Given the description of an element on the screen output the (x, y) to click on. 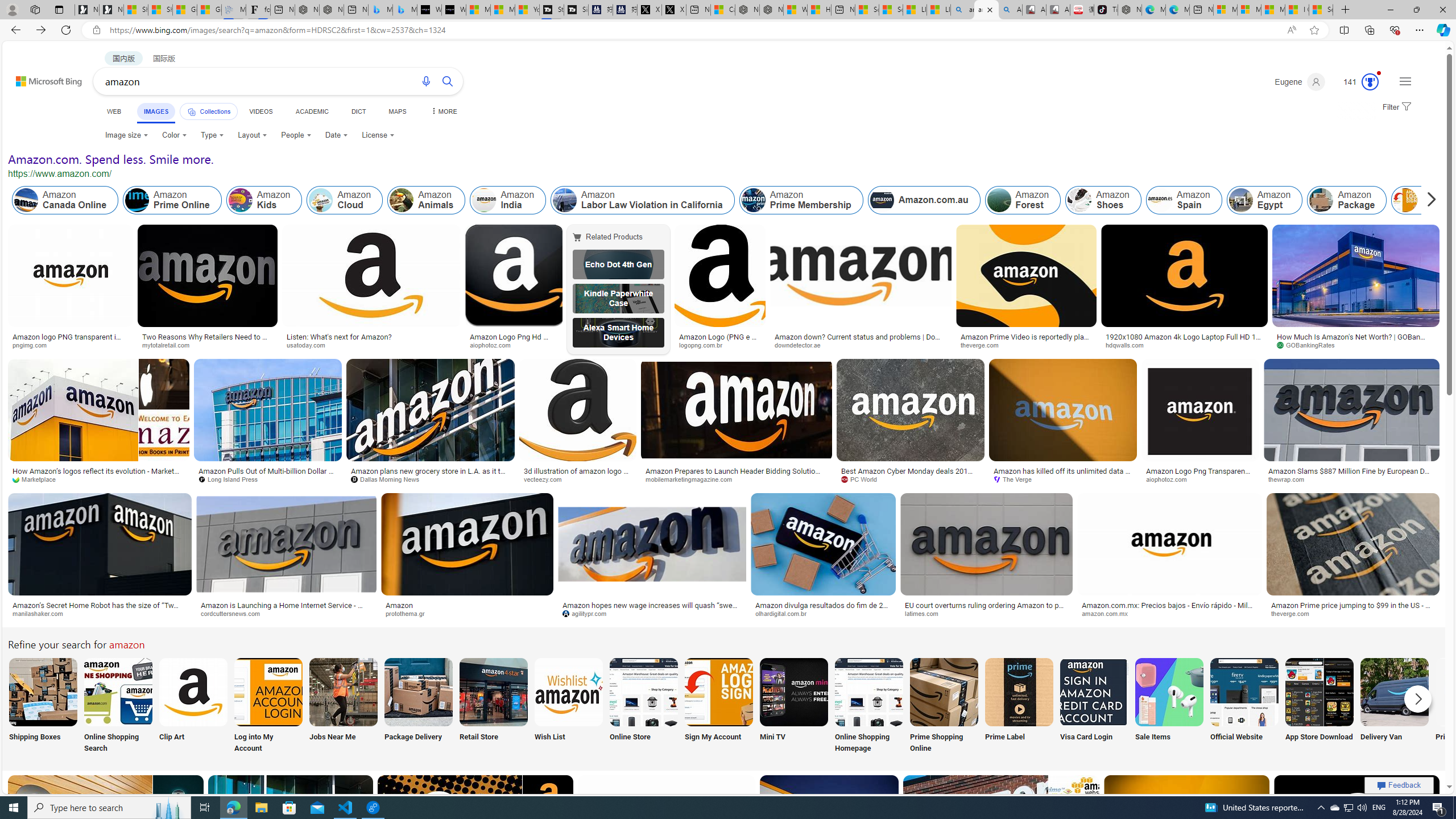
olhardigital.com.br (823, 613)
Amazon Egypt (1265, 199)
Amazon Cloud (344, 199)
Amazon Prime Online (137, 200)
PC World (863, 479)
Prime Shopping Online (944, 706)
